Given the description of an element on the screen output the (x, y) to click on. 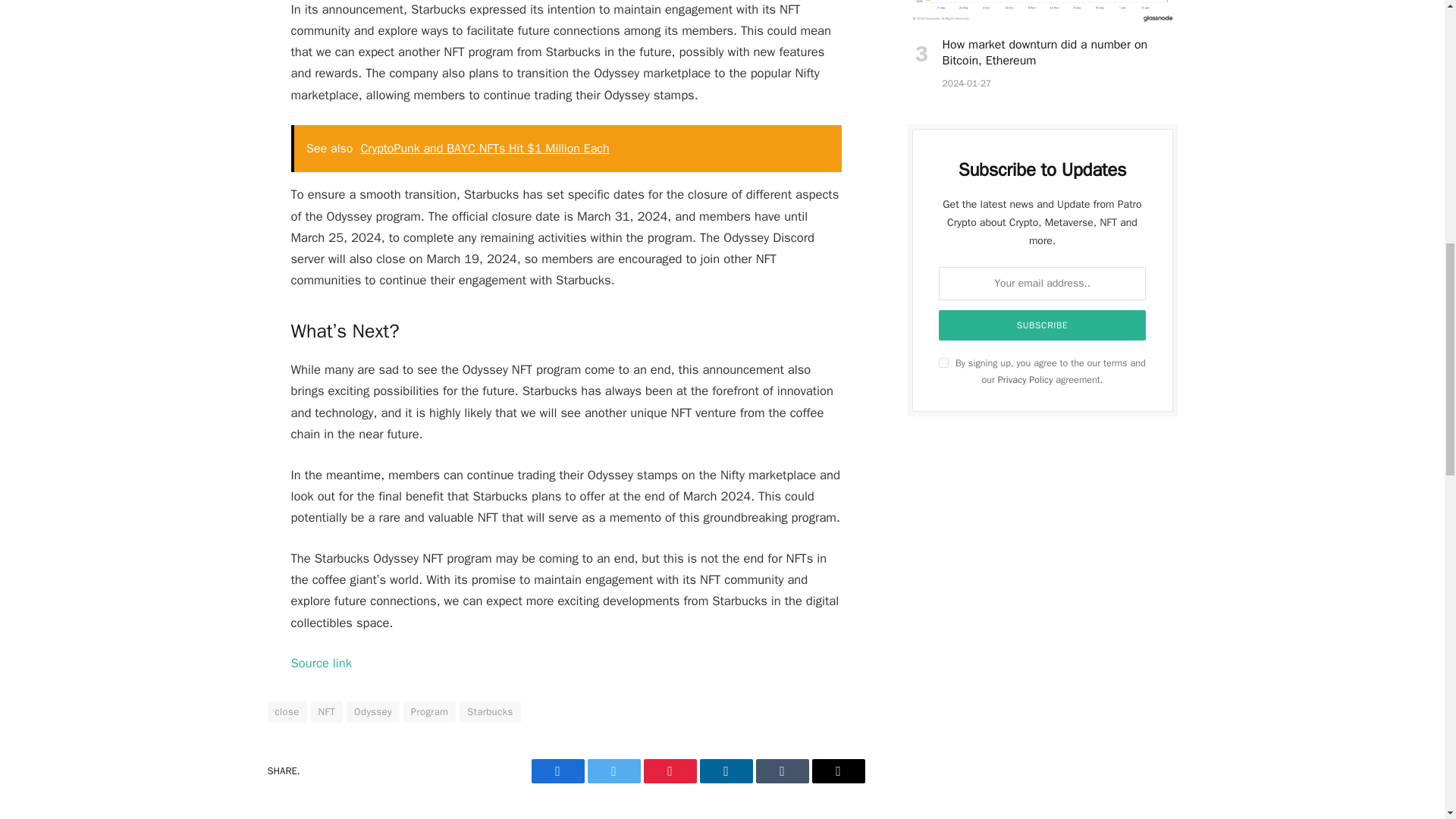
Subscribe (1043, 325)
on (944, 362)
